Given the description of an element on the screen output the (x, y) to click on. 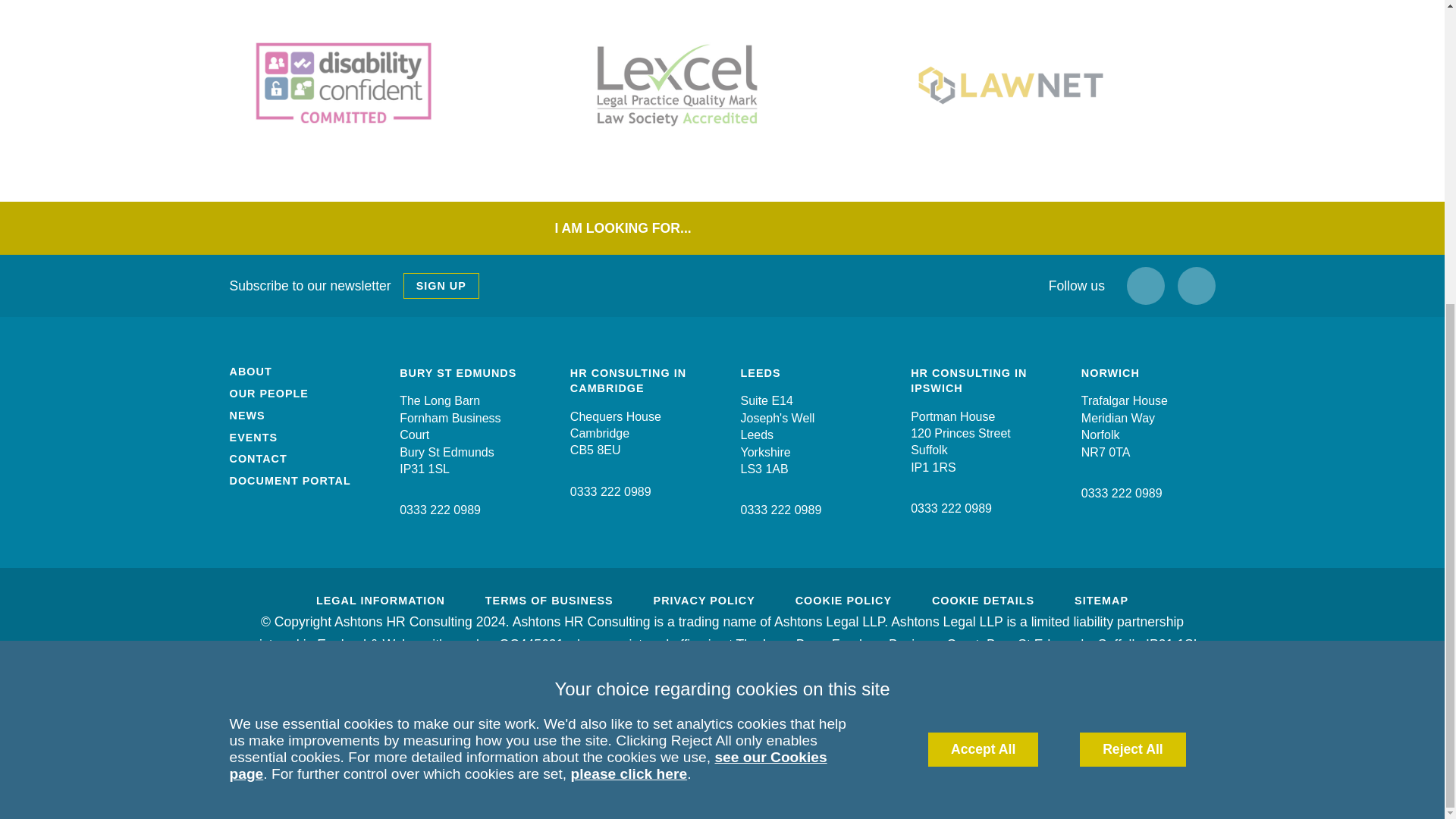
Disability Confident Committed Employer (387, 85)
LawNet (1055, 85)
Lexcel (721, 85)
Search the site (780, 227)
